Given the description of an element on the screen output the (x, y) to click on. 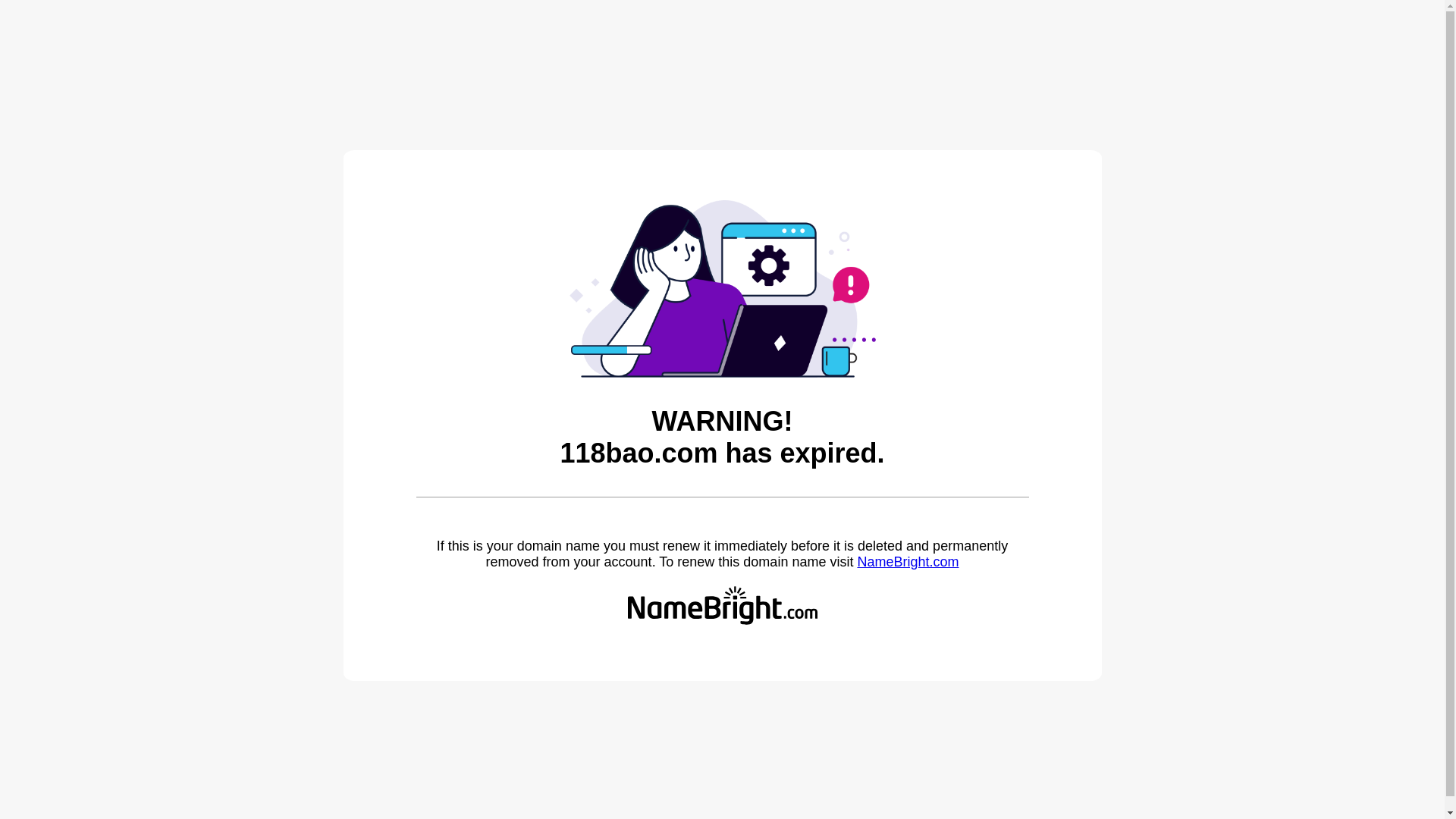
NameBright.com Element type: text (907, 561)
